Given the description of an element on the screen output the (x, y) to click on. 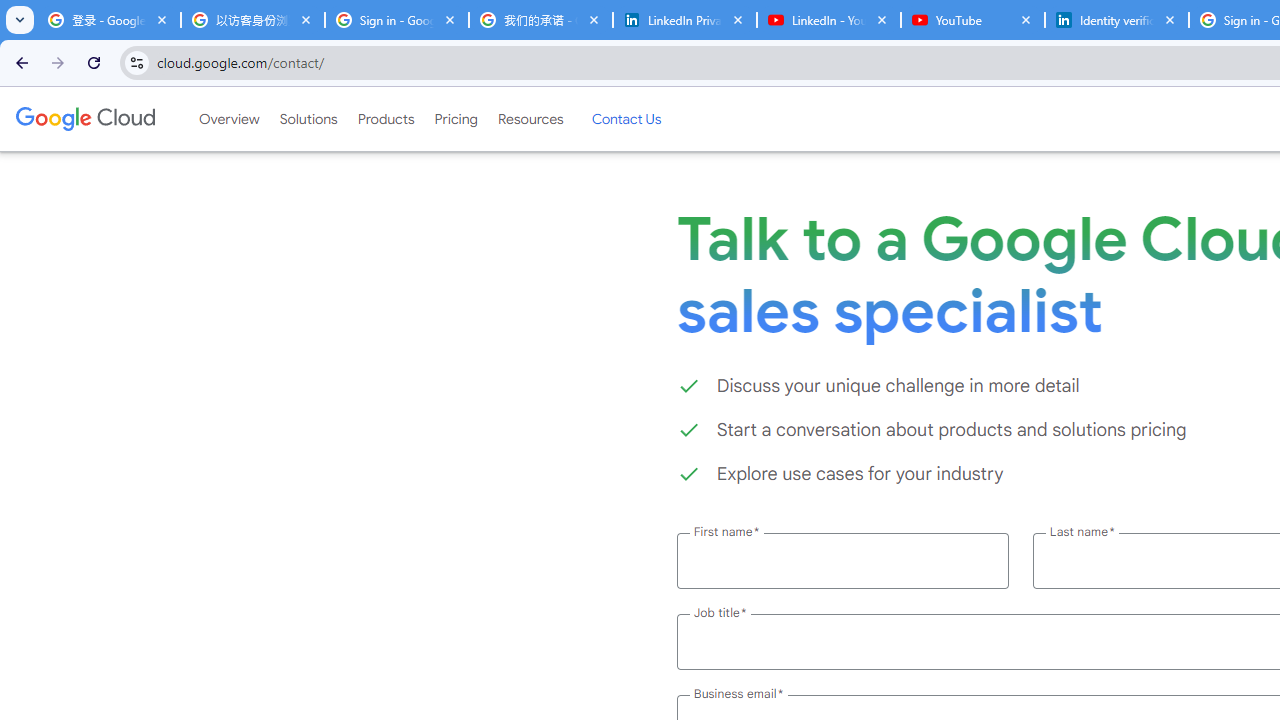
YouTube (972, 20)
Solutions (308, 119)
First name * (842, 560)
Resources (530, 119)
LinkedIn - YouTube (828, 20)
Google Cloud (84, 118)
